Given the description of an element on the screen output the (x, y) to click on. 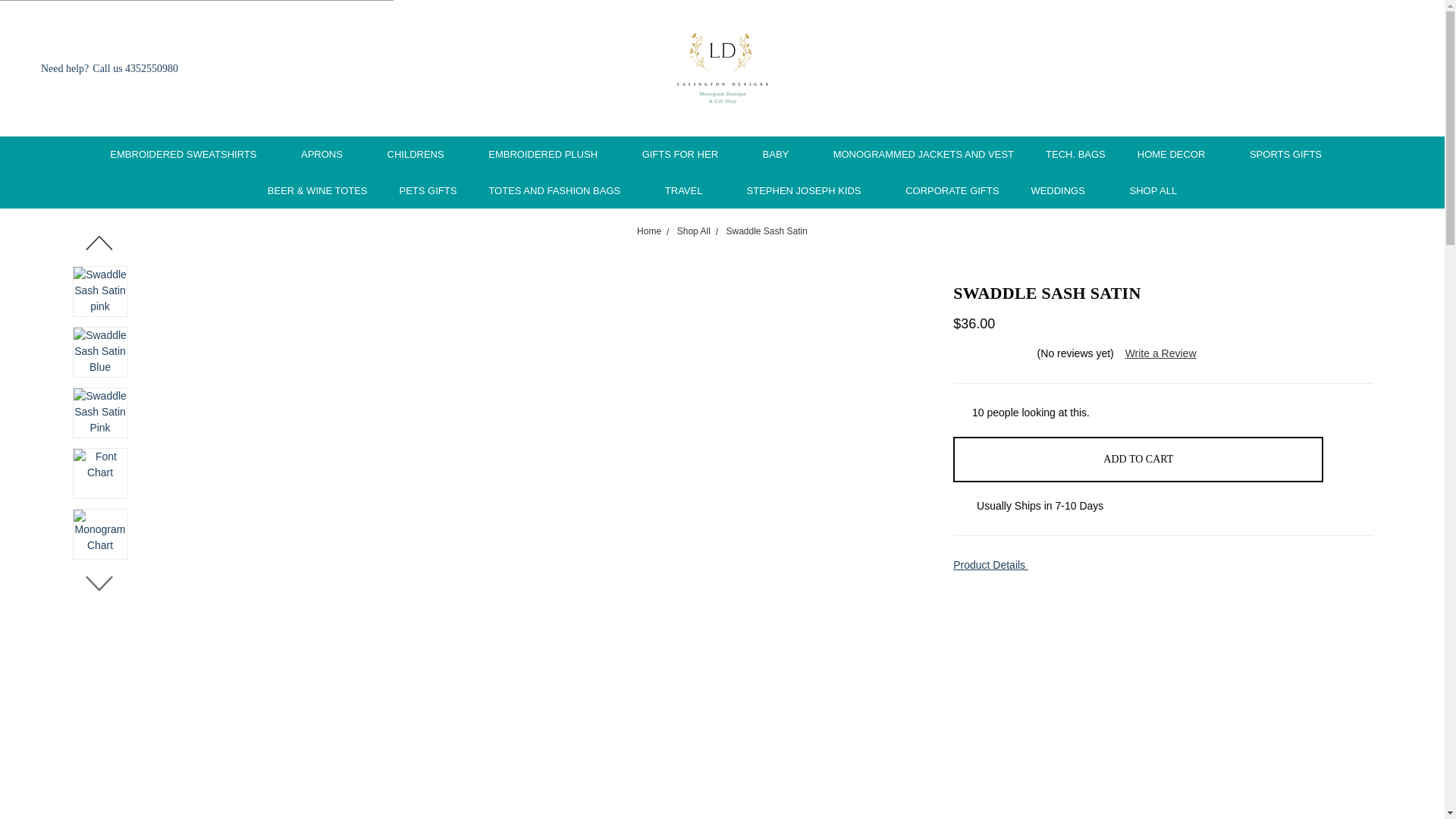
EMBROIDERED SWEATSHIRTS (189, 154)
Swaddle Sash Satin pink (99, 291)
Add to Cart (1138, 459)
EMBROIDERED PLUSH (548, 154)
Product Details (1163, 565)
Font Chart (99, 472)
Lavington Designs LLC (721, 68)
Swaddle Sash Satin Blue (99, 351)
Monogram Chart (99, 533)
